Given the description of an element on the screen output the (x, y) to click on. 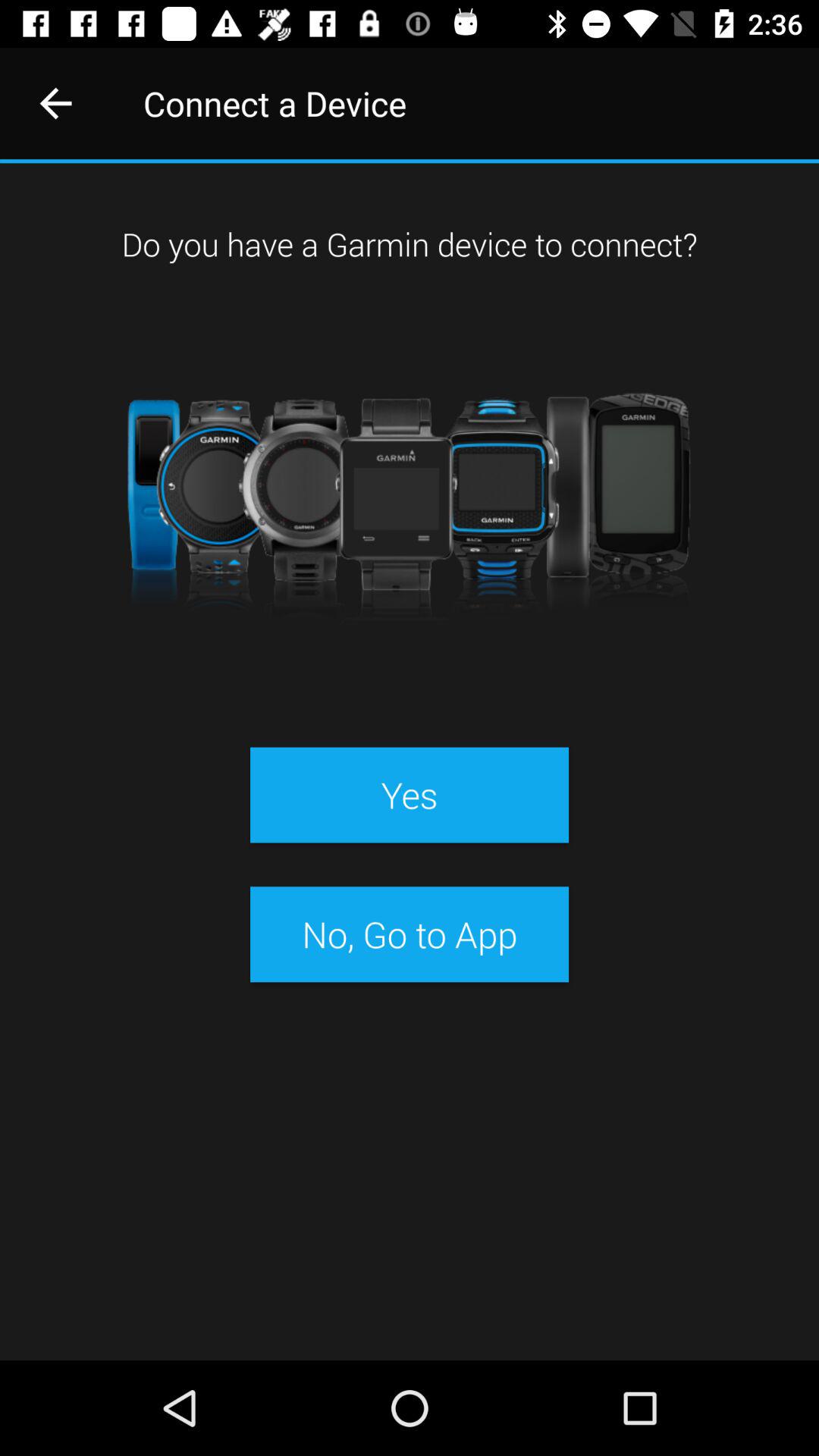
flip until the no go to icon (409, 934)
